Given the description of an element on the screen output the (x, y) to click on. 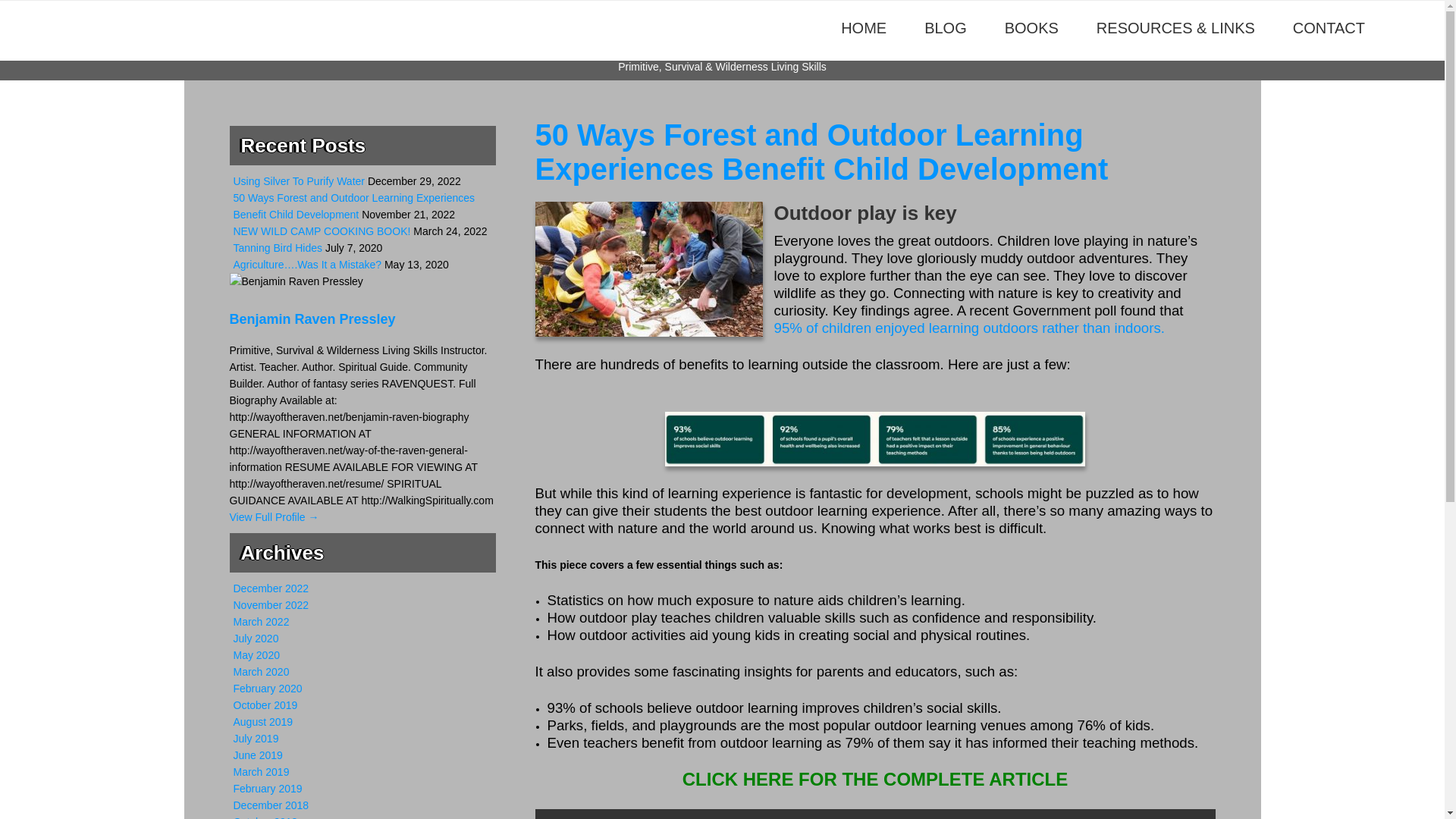
HOME (863, 28)
Using Silver To Purify Water (298, 181)
NEW WILD CAMP COOKING BOOK! (321, 231)
March 2020 (260, 671)
CONTACT (1329, 28)
February 2020 (267, 688)
May 2020 (255, 654)
CLICK HERE FOR THE COMPLETE ARTICLE (874, 781)
December 2022 (270, 588)
July 2020 (255, 638)
BOOKS (1032, 28)
March 2022 (260, 621)
November 2022 (270, 604)
